Given the description of an element on the screen output the (x, y) to click on. 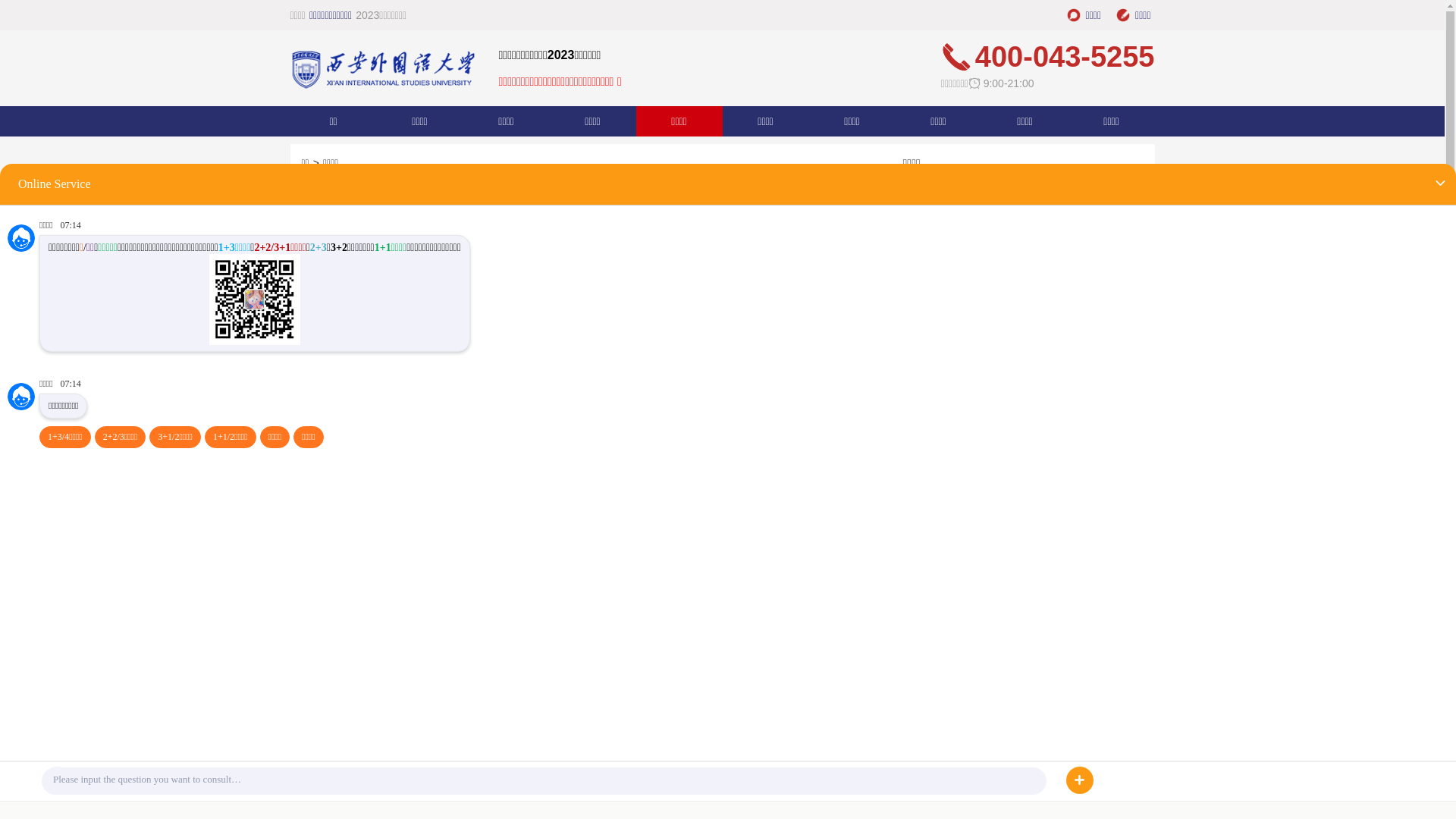
... Element type: text (1140, 380)
